Given the description of an element on the screen output the (x, y) to click on. 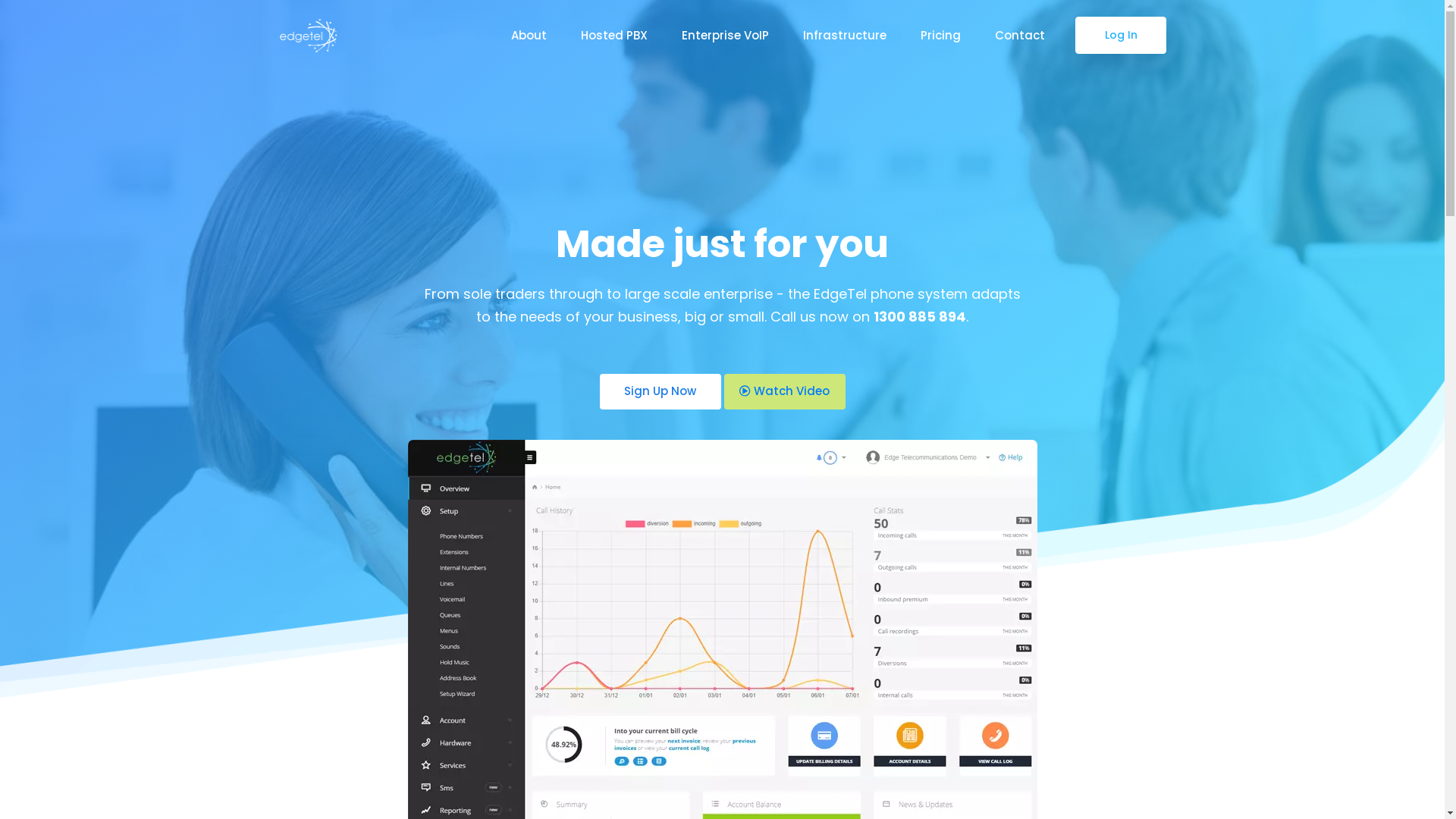
Contact Element type: text (1019, 34)
Watch Video Element type: text (783, 391)
Hosted PBX Element type: text (613, 34)
Pricing Element type: text (940, 34)
Sign Up Now Element type: text (659, 391)
Log In Element type: text (1120, 34)
Infrastructure Element type: text (843, 34)
About Element type: text (528, 34)
Enterprise VoIP Element type: text (724, 34)
